Given the description of an element on the screen output the (x, y) to click on. 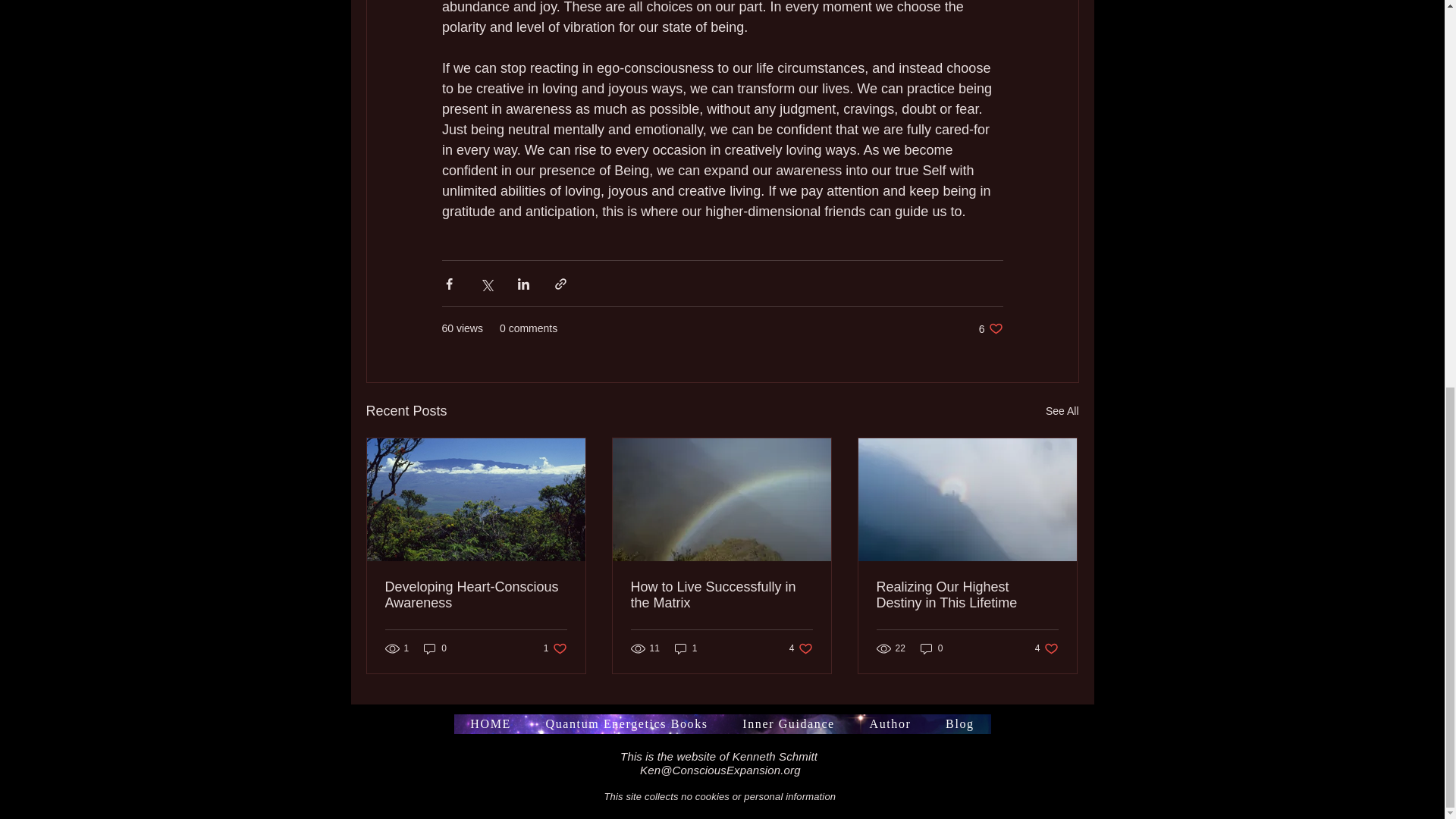
How to Live Successfully in the Matrix (990, 309)
Author (476, 575)
Inner Guidance (555, 628)
Quantum Energetics Books (805, 704)
Overcoming Challenges to Following Our Heart Energy (1046, 628)
See All (729, 704)
1 (591, 704)
Blog (967, 575)
HOME (1061, 391)
Realizing Our Highest Destiny in This Lifetime (931, 628)
Heart-Mind Connections (721, 723)
